Given the description of an element on the screen output the (x, y) to click on. 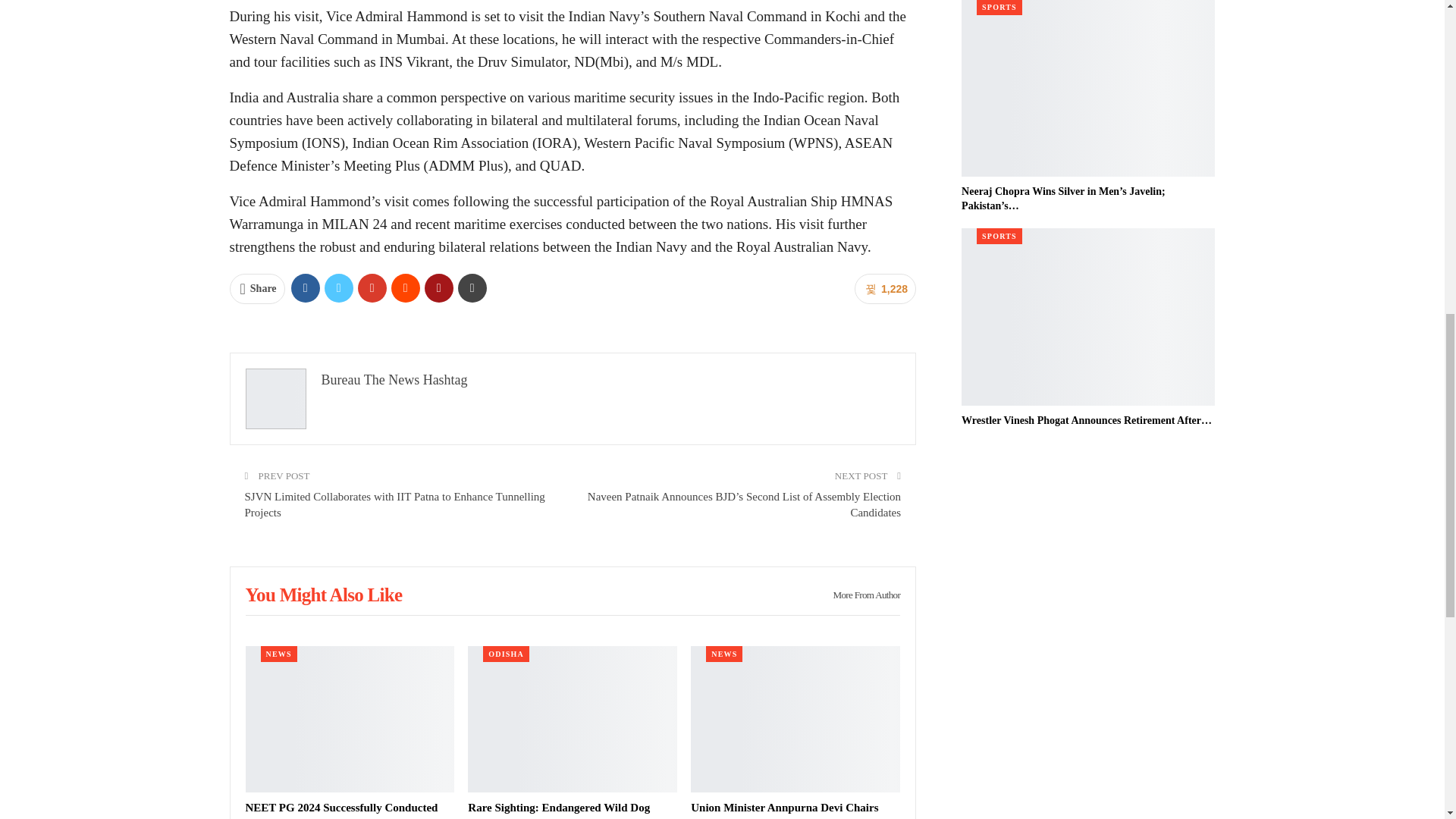
Bureau The News Hashtag (394, 379)
NEET PG 2024 Successfully Conducted Across 170 Cities (342, 810)
NEET PG 2024 Successfully Conducted Across 170 Cities (350, 719)
